Given the description of an element on the screen output the (x, y) to click on. 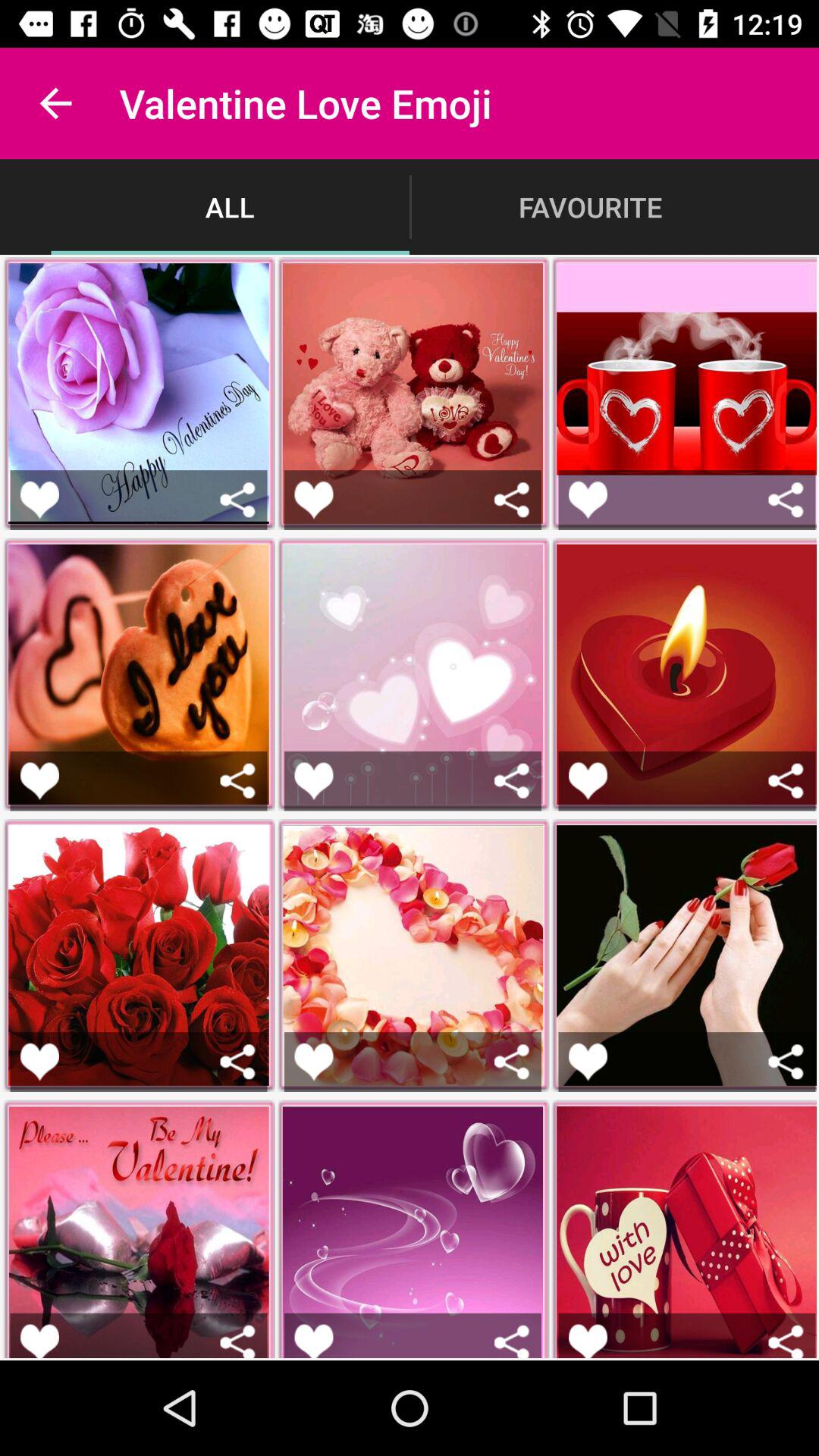
share the picture (511, 499)
